Given the description of an element on the screen output the (x, y) to click on. 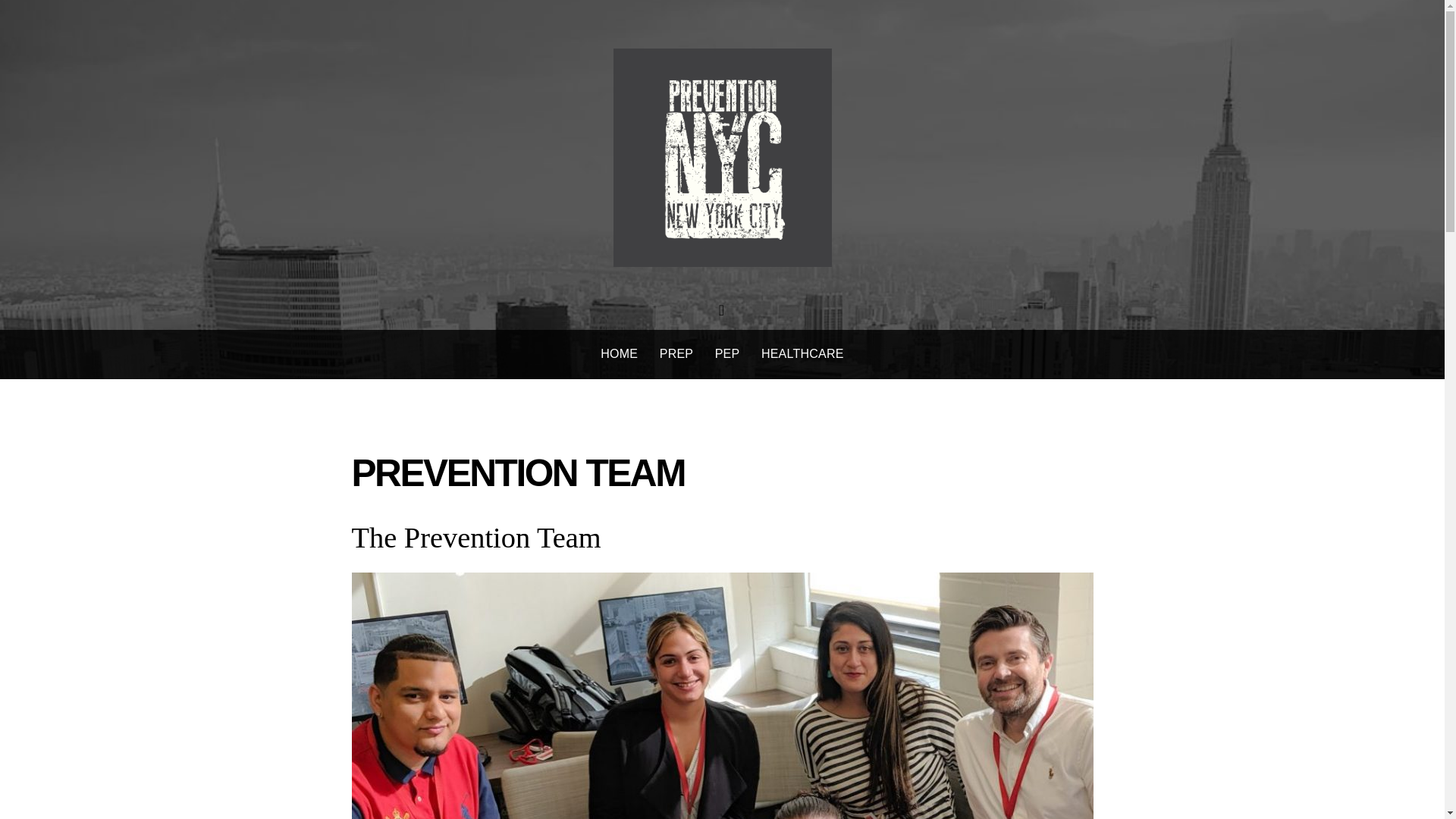
HEALTHCARE (802, 354)
PREVENTION NYC (721, 251)
grit (721, 157)
The Prevention Team (476, 537)
